Given the description of an element on the screen output the (x, y) to click on. 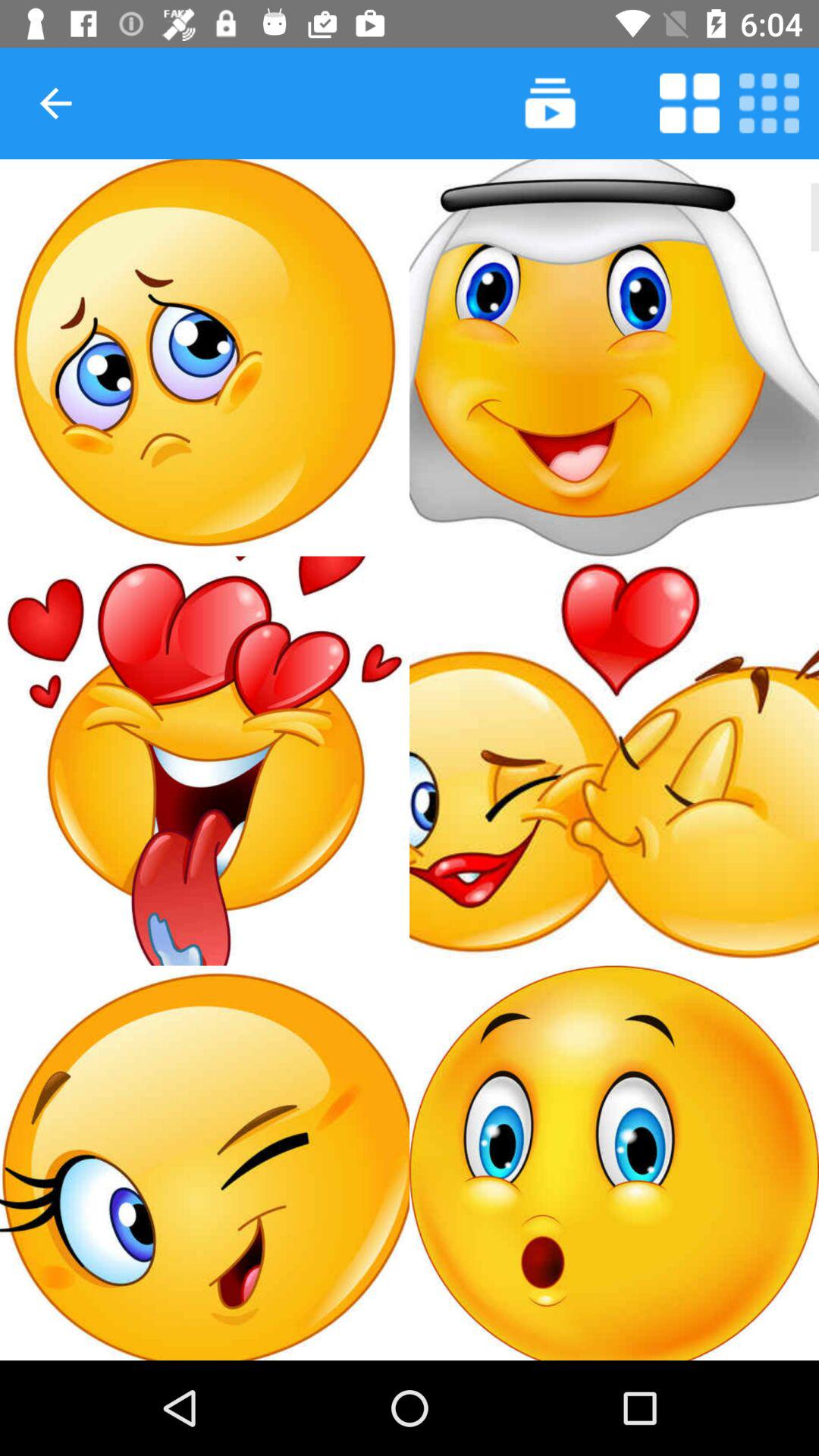
surprised emoji image (614, 1162)
